Given the description of an element on the screen output the (x, y) to click on. 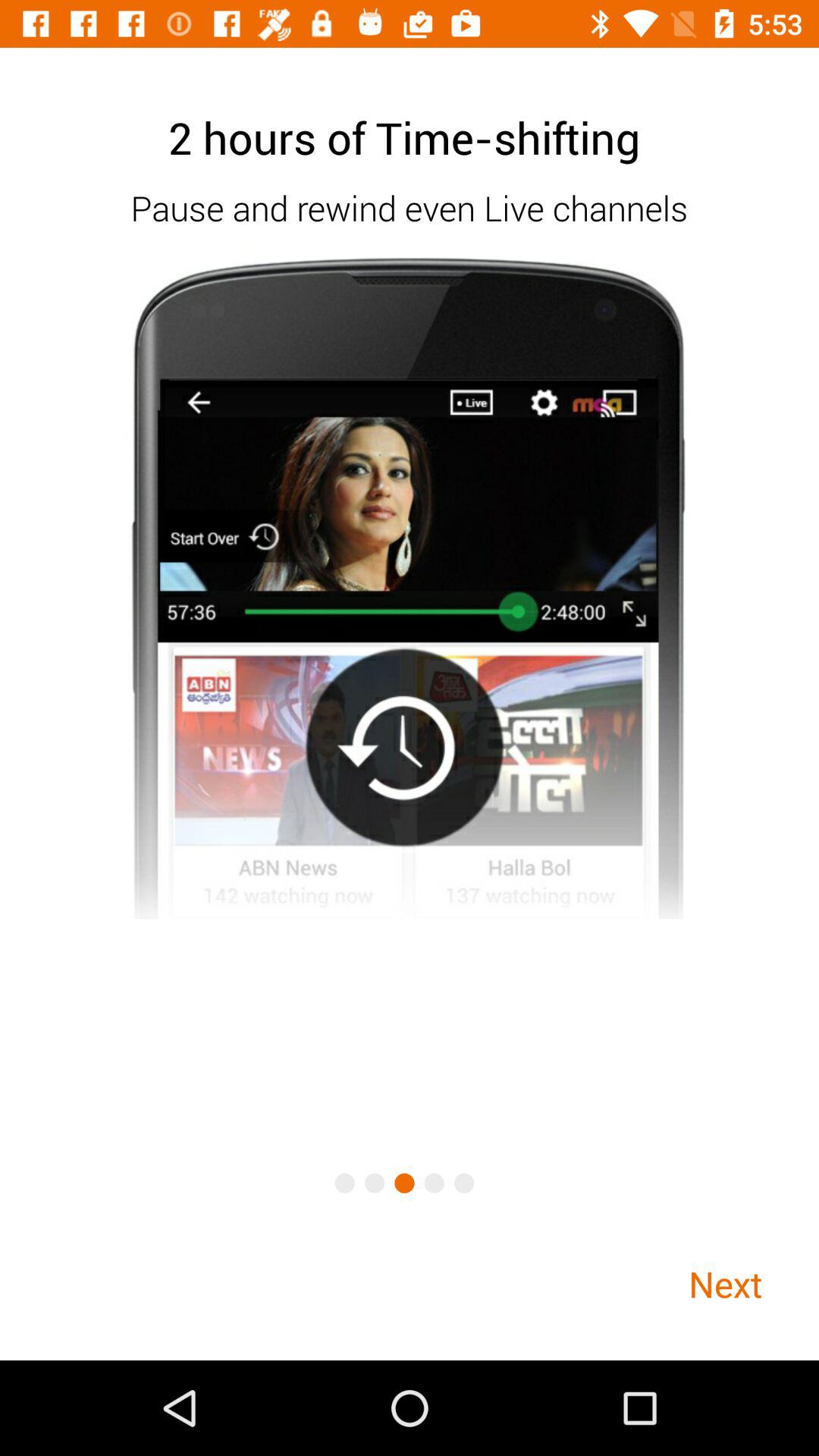
click item at the bottom right corner (725, 1283)
